Given the description of an element on the screen output the (x, y) to click on. 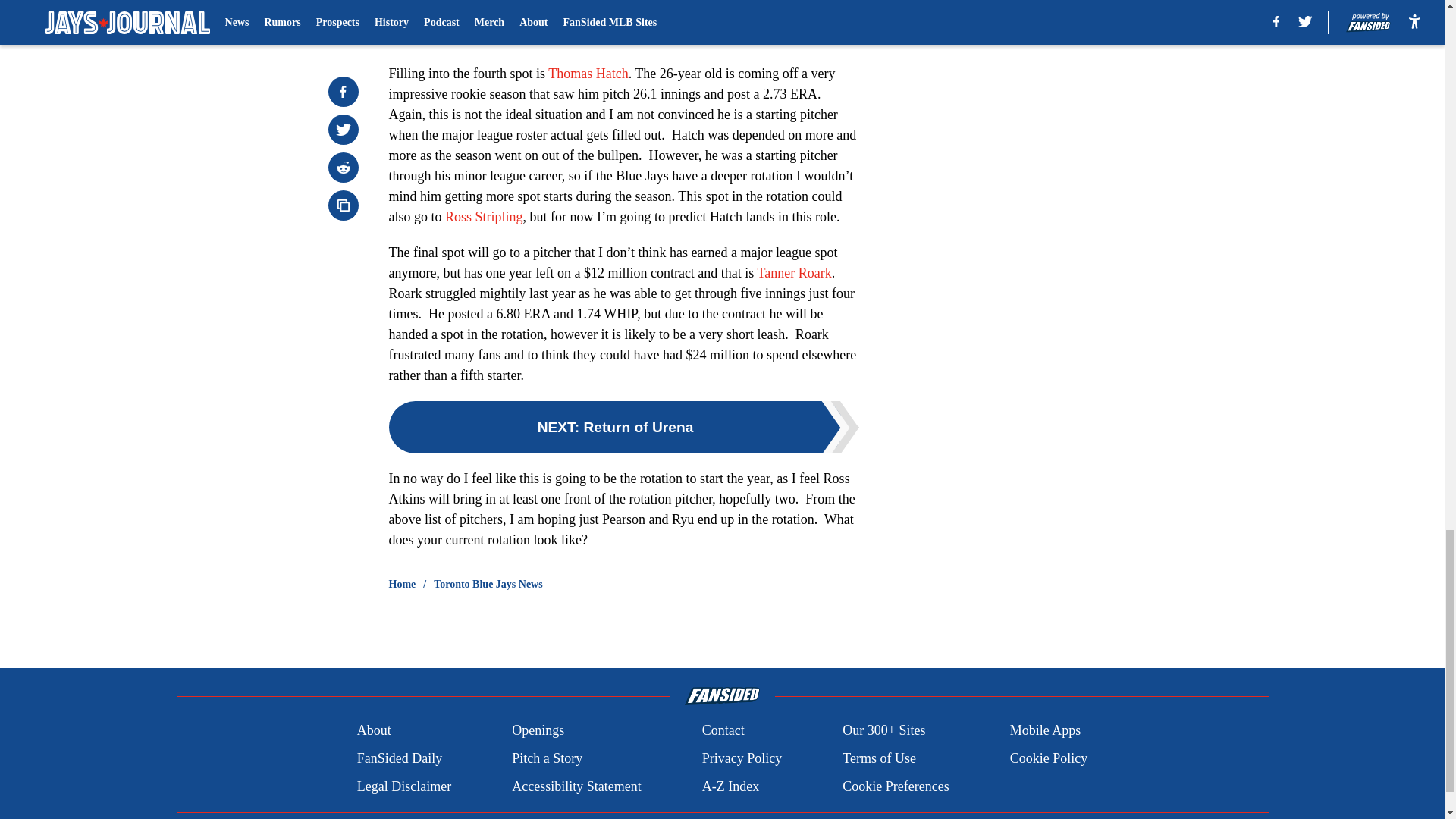
NEXT: Return of Urena (623, 427)
About (373, 730)
Contact (722, 730)
Ross Stripling (483, 216)
Pitch a Story (547, 758)
Toronto Blue Jays News (488, 584)
Thomas Hatch (587, 73)
Tanner Roark (794, 272)
Mobile Apps (1045, 730)
Home (401, 584)
